Given the description of an element on the screen output the (x, y) to click on. 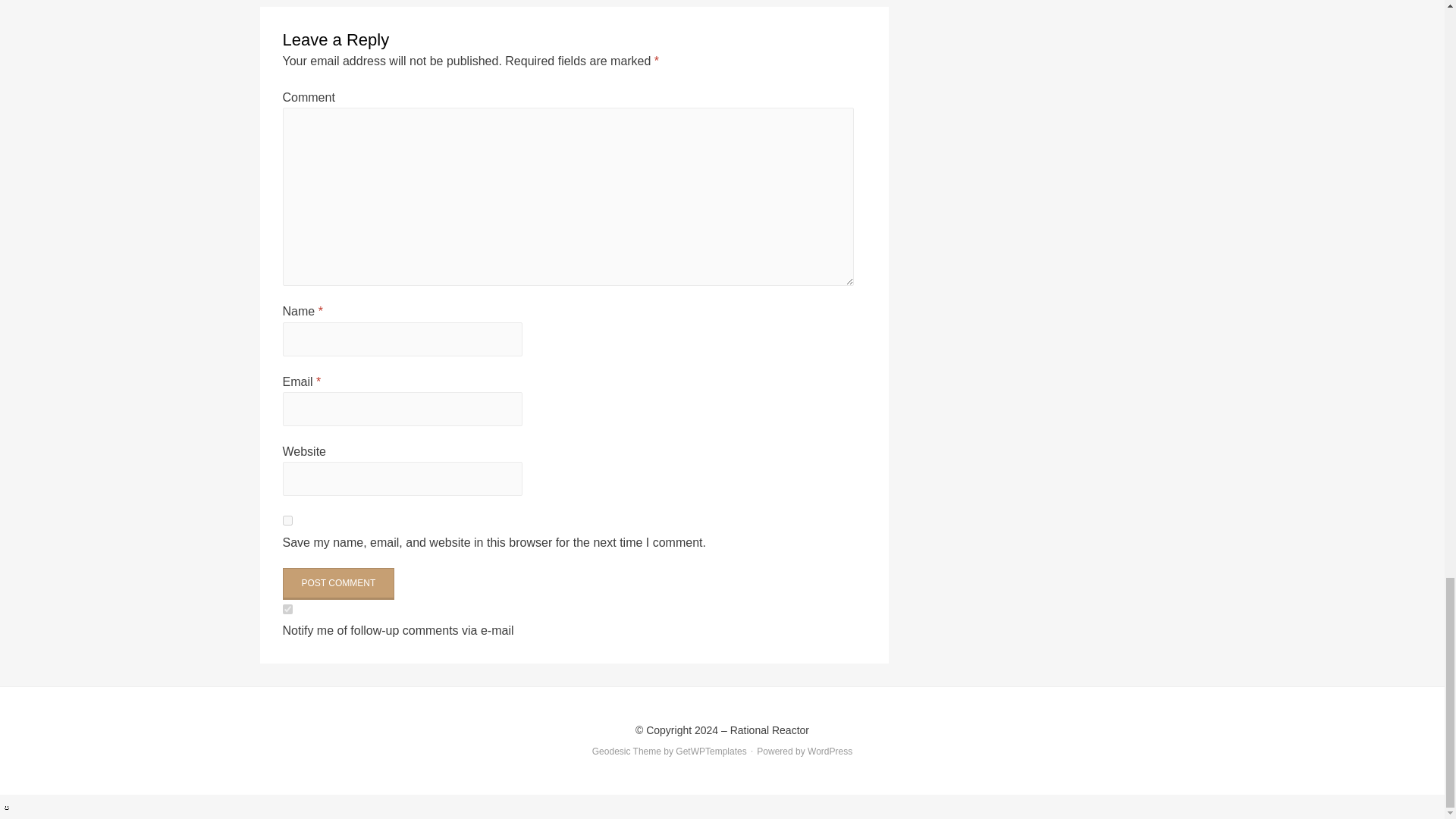
Post Comment (338, 583)
Post Comment (338, 583)
yes (287, 520)
